Given the description of an element on the screen output the (x, y) to click on. 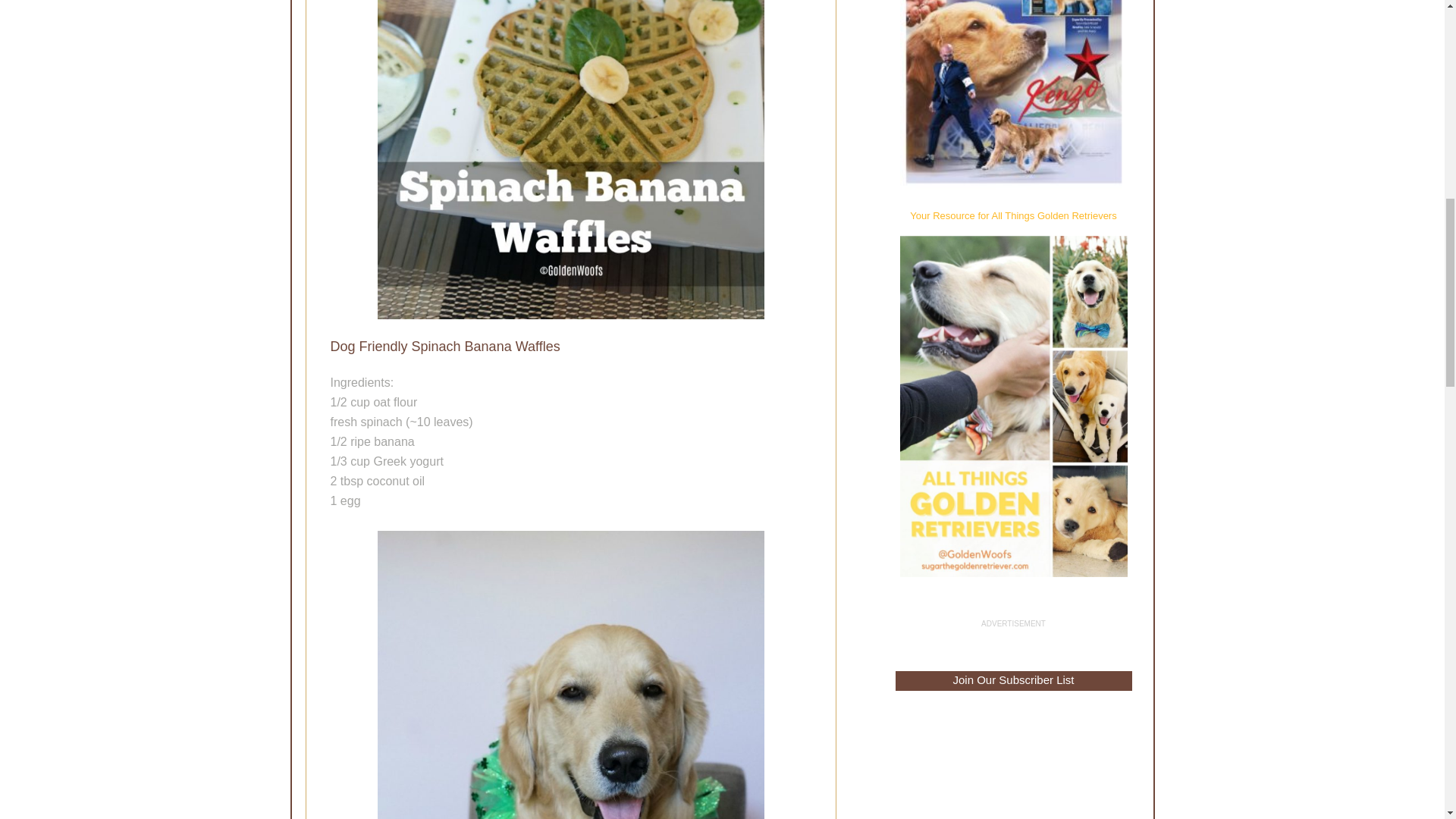
Spinach Banana Waffles (570, 159)
Your Resource for All Things Golden Retrievers (1013, 215)
Dog Friendly Spinach Banana Waffles (570, 674)
